Given the description of an element on the screen output the (x, y) to click on. 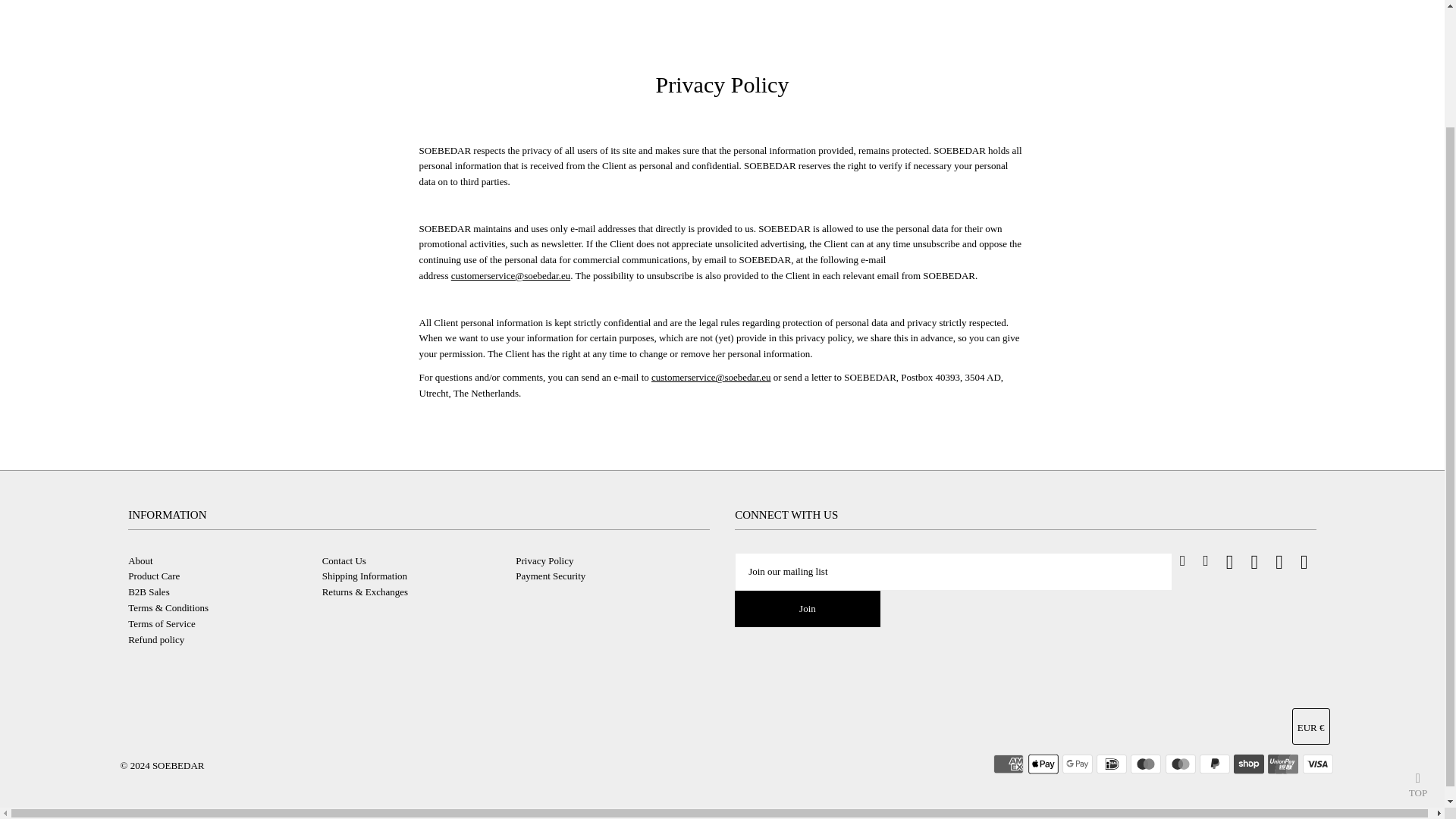
Union Pay (1283, 763)
Shop Pay (1248, 763)
Google Pay (1077, 763)
Maestro (1145, 763)
PayPal (1214, 763)
Apple Pay (1042, 763)
Join (807, 608)
iDEAL (1111, 763)
Visa (1318, 763)
Mastercard (1179, 763)
TOP (1417, 638)
American Express (1007, 763)
